Given the description of an element on the screen output the (x, y) to click on. 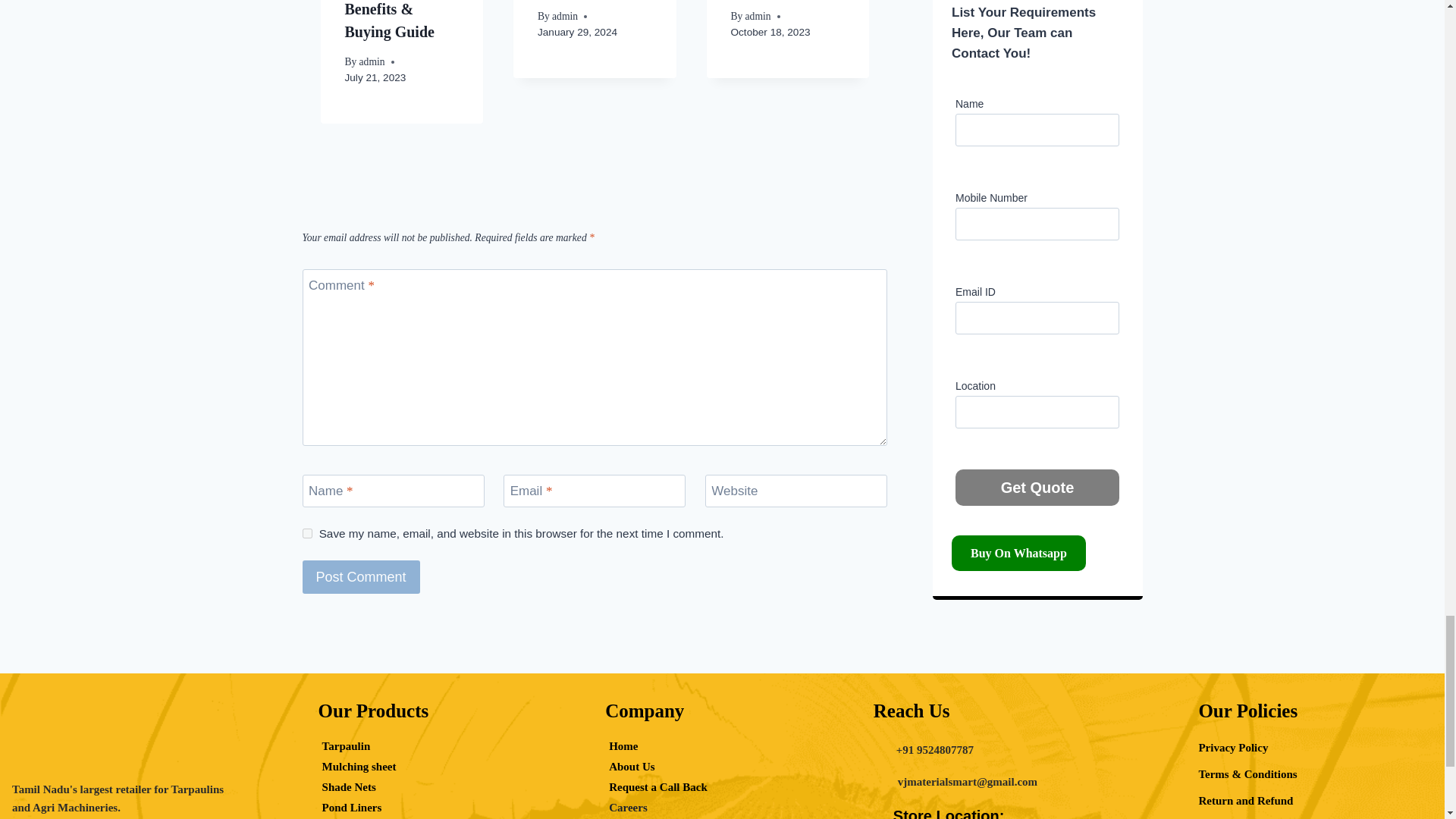
Post Comment (360, 576)
yes (306, 533)
High Quality Tarpaulins (127, 743)
